Given the description of an element on the screen output the (x, y) to click on. 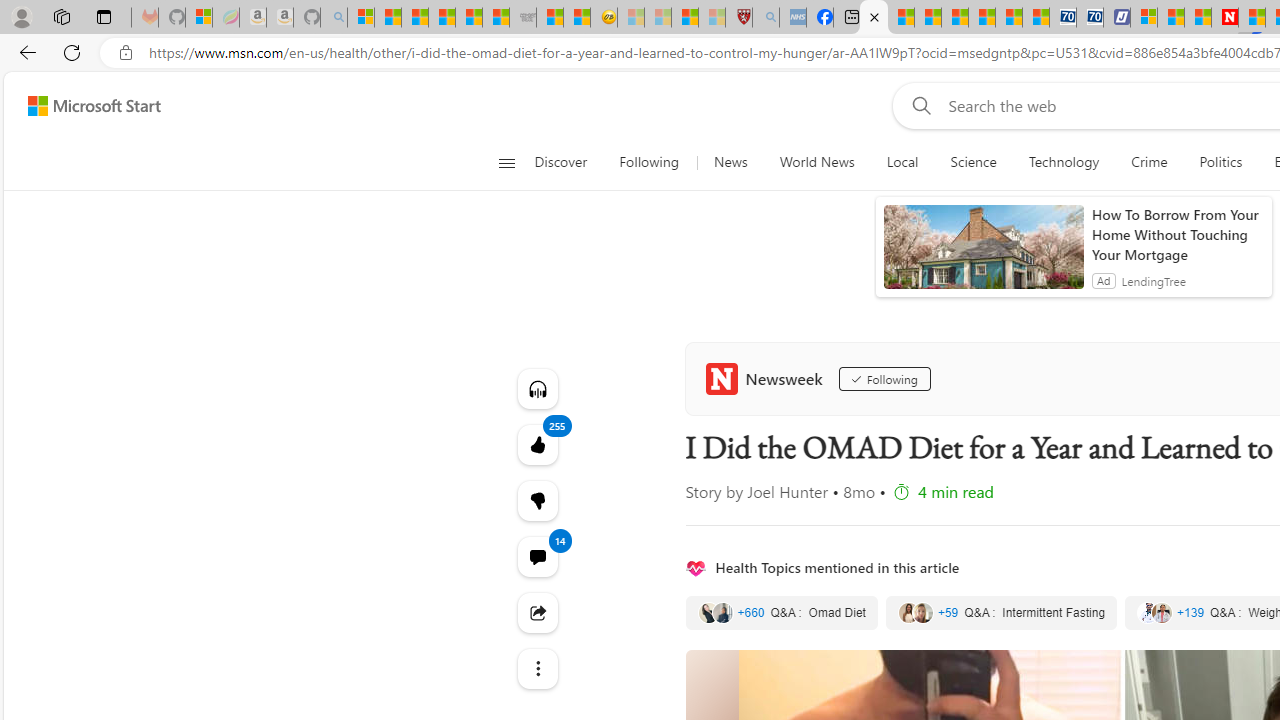
LendingTree (1153, 280)
Cheap Hotels - Save70.com (1089, 17)
